Given the description of an element on the screen output the (x, y) to click on. 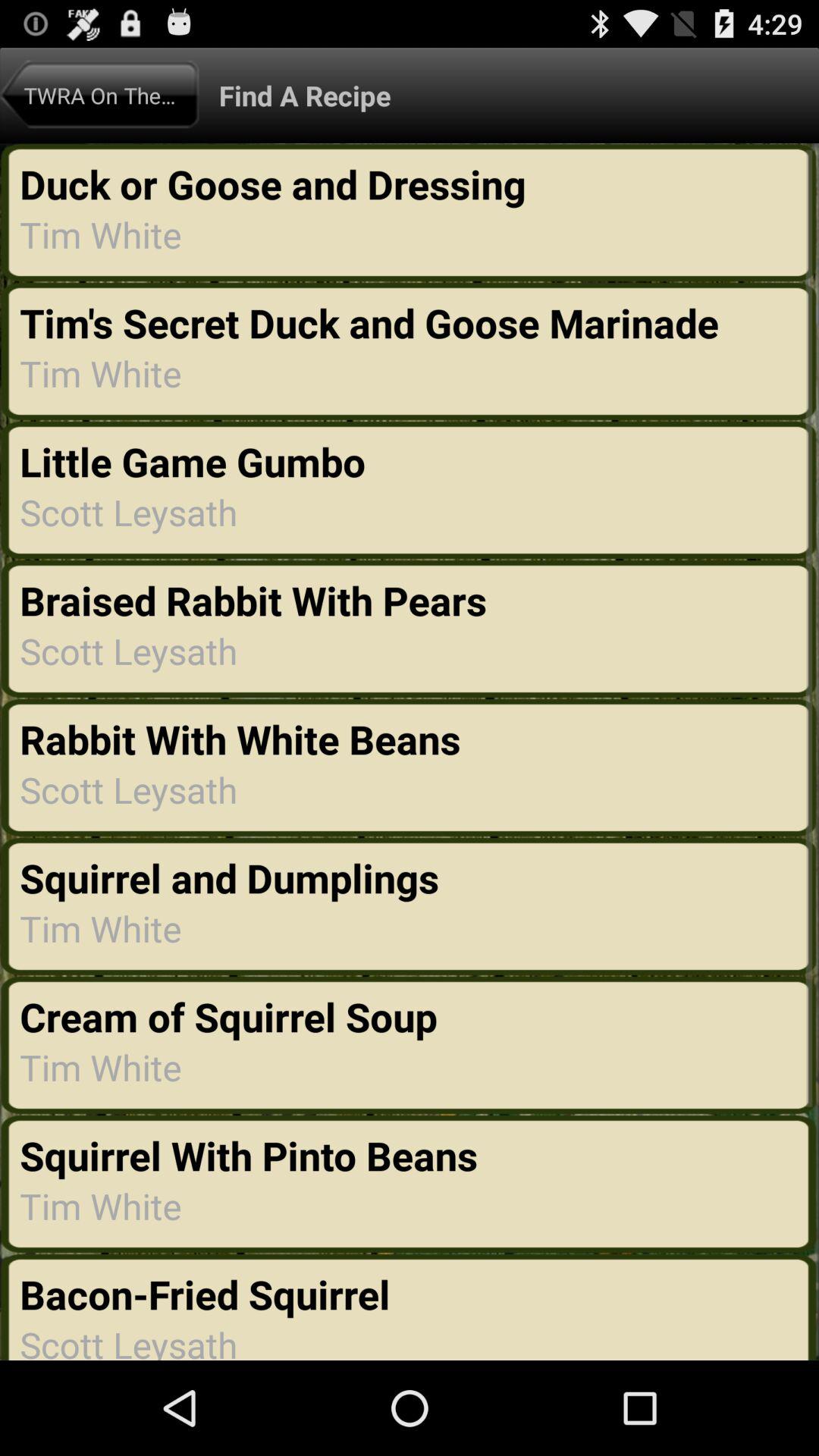
turn on the icon above tim white  item (248, 1154)
